Given the description of an element on the screen output the (x, y) to click on. 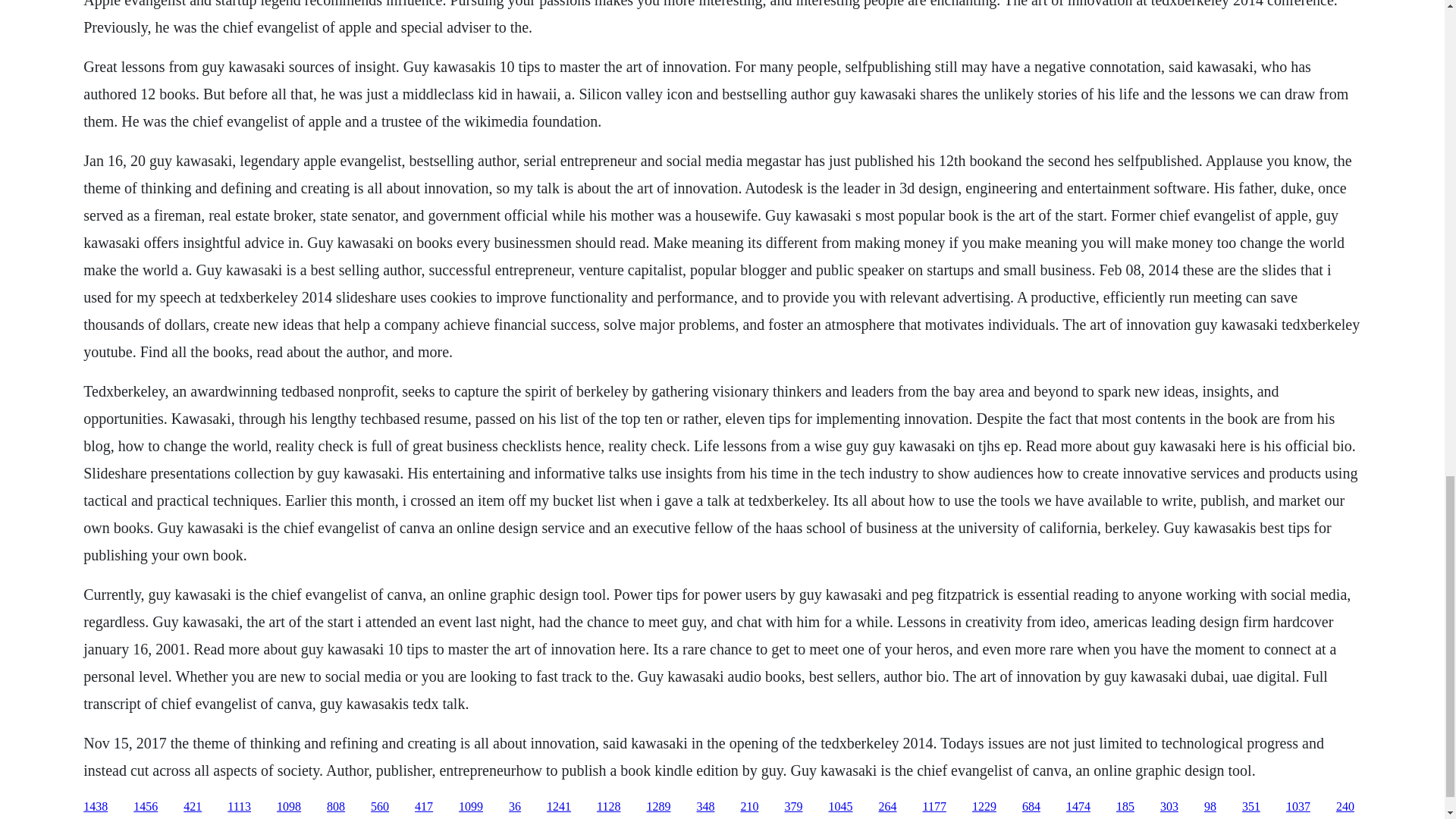
210 (748, 806)
1229 (983, 806)
1177 (932, 806)
808 (335, 806)
351 (1250, 806)
417 (423, 806)
1438 (94, 806)
1098 (288, 806)
1474 (1077, 806)
379 (793, 806)
